Given the description of an element on the screen output the (x, y) to click on. 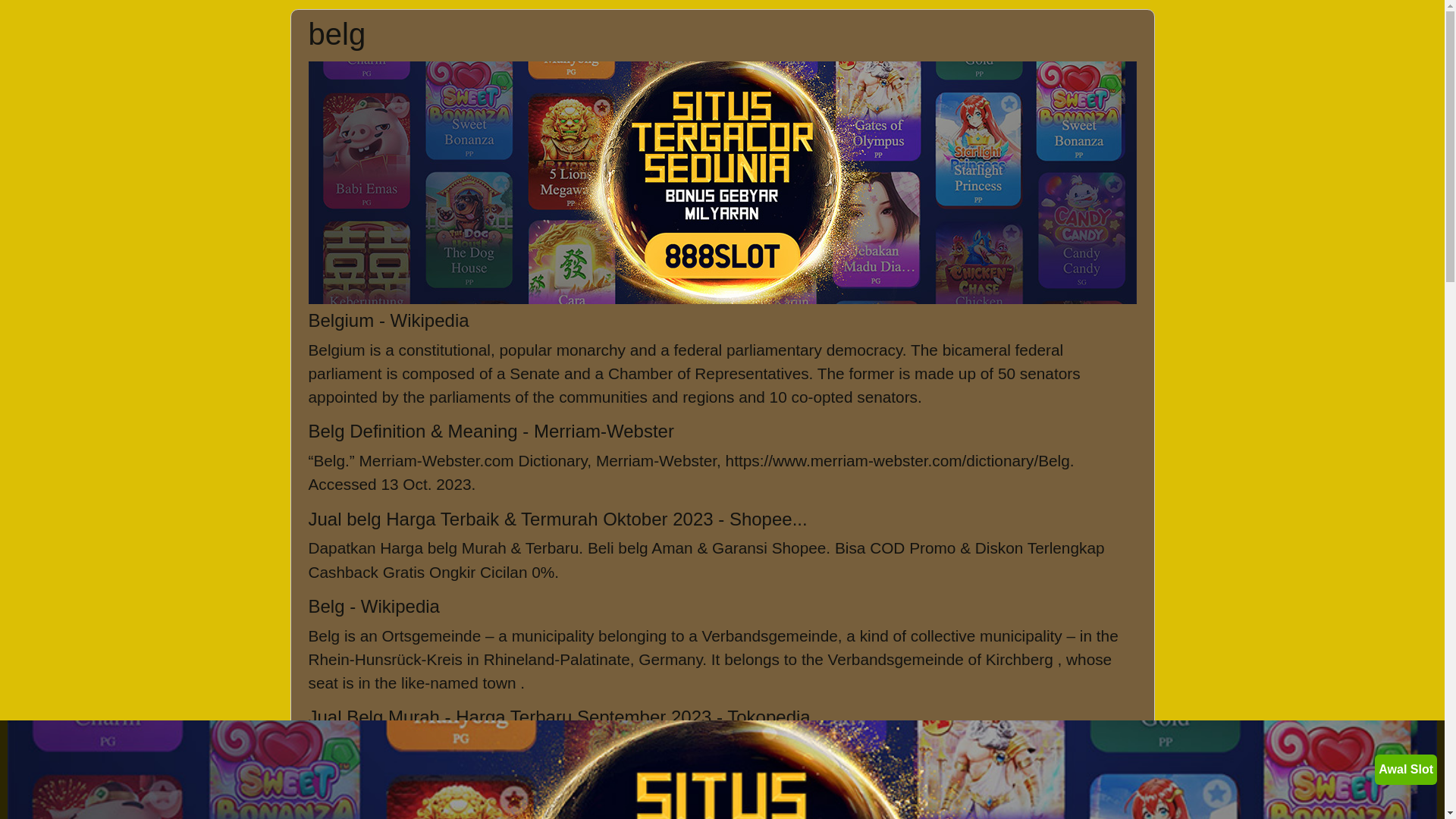
belg-2 Element type: hover (721, 182)
